Given the description of an element on the screen output the (x, y) to click on. 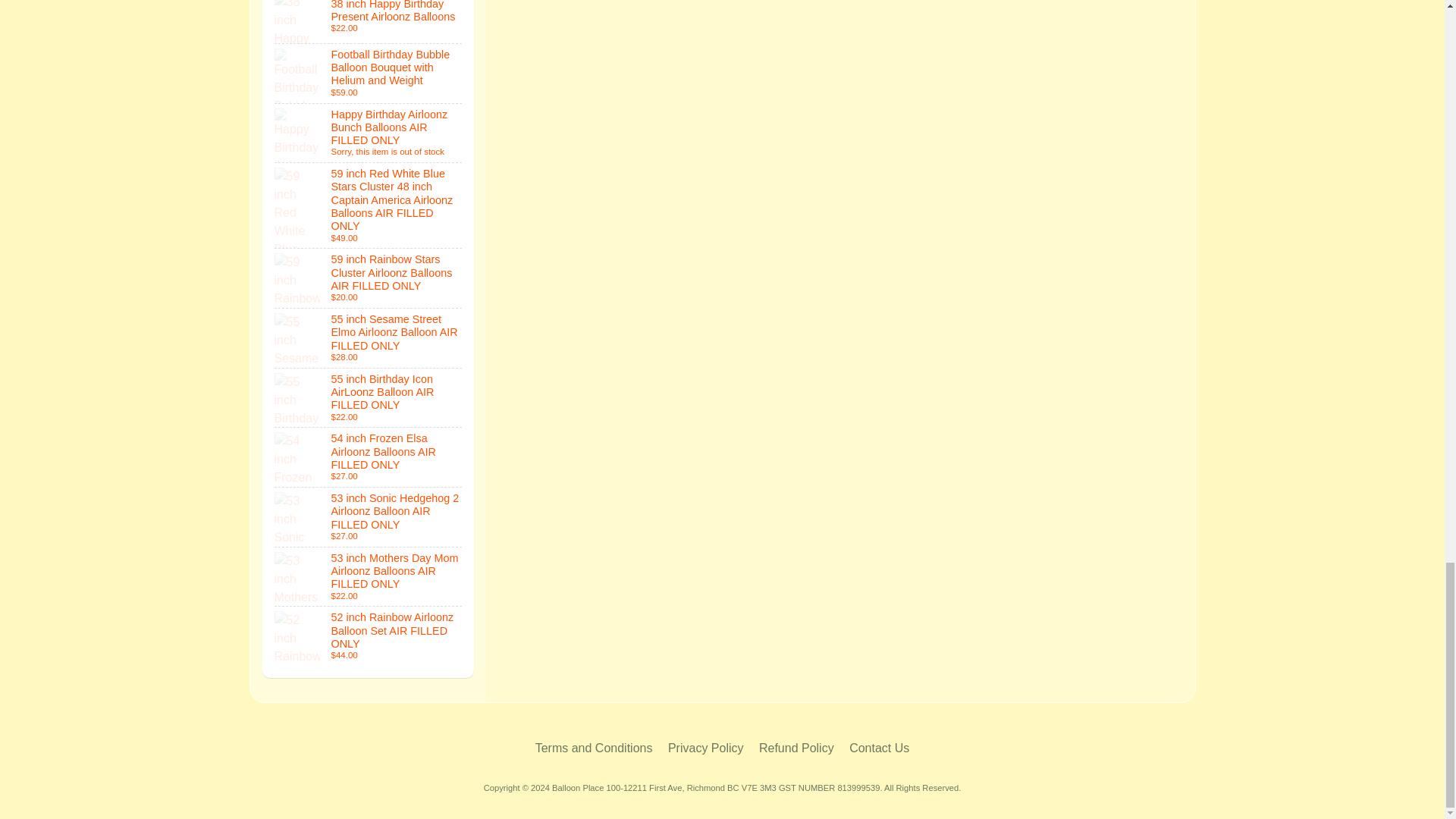
53 inch Mothers Day Mom Airloonz Balloons AIR FILLED ONLY (369, 576)
54 inch Frozen Elsa Airloonz Balloons AIR FILLED ONLY (369, 456)
55 inch Sesame Street Elmo Airloonz Balloon AIR FILLED ONLY (369, 337)
53 inch Sonic Hedgehog 2 Airloonz Balloon AIR FILLED ONLY (369, 517)
38 inch Happy Birthday Present Airloonz Balloons (369, 21)
Happy Birthday Airloonz Bunch Balloons AIR FILLED ONLY (369, 133)
55 inch Birthday Icon AirLoonz Balloon AIR FILLED ONLY (369, 397)
